Given the description of an element on the screen output the (x, y) to click on. 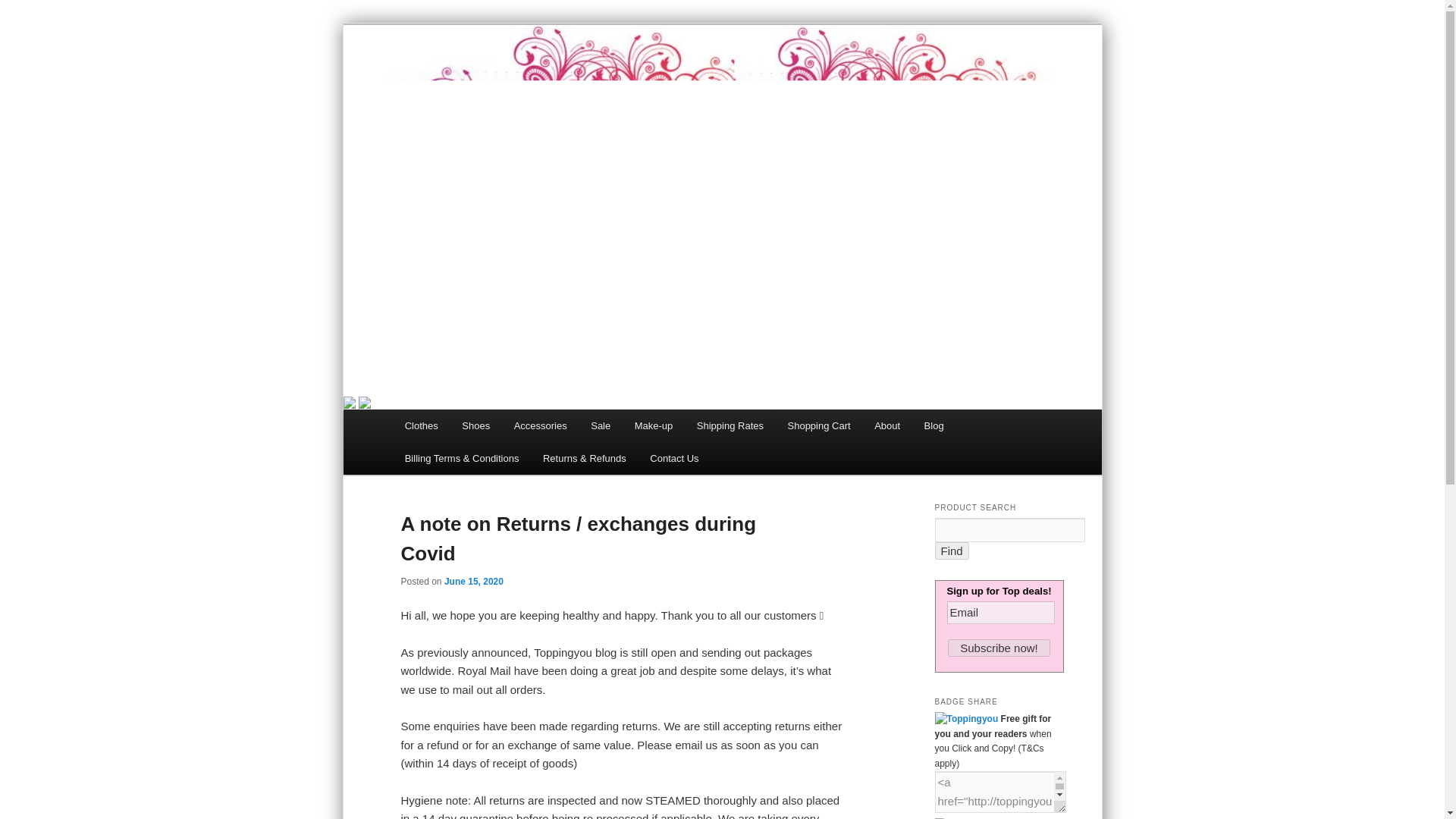
Skip to primary content (472, 428)
2:20 am (473, 581)
Clothes (421, 425)
Make-up (653, 425)
Subscribe now! (998, 647)
Shoes (475, 425)
Skip to secondary content (479, 428)
Accessories (540, 425)
Skip to primary content (472, 428)
